Given the description of an element on the screen output the (x, y) to click on. 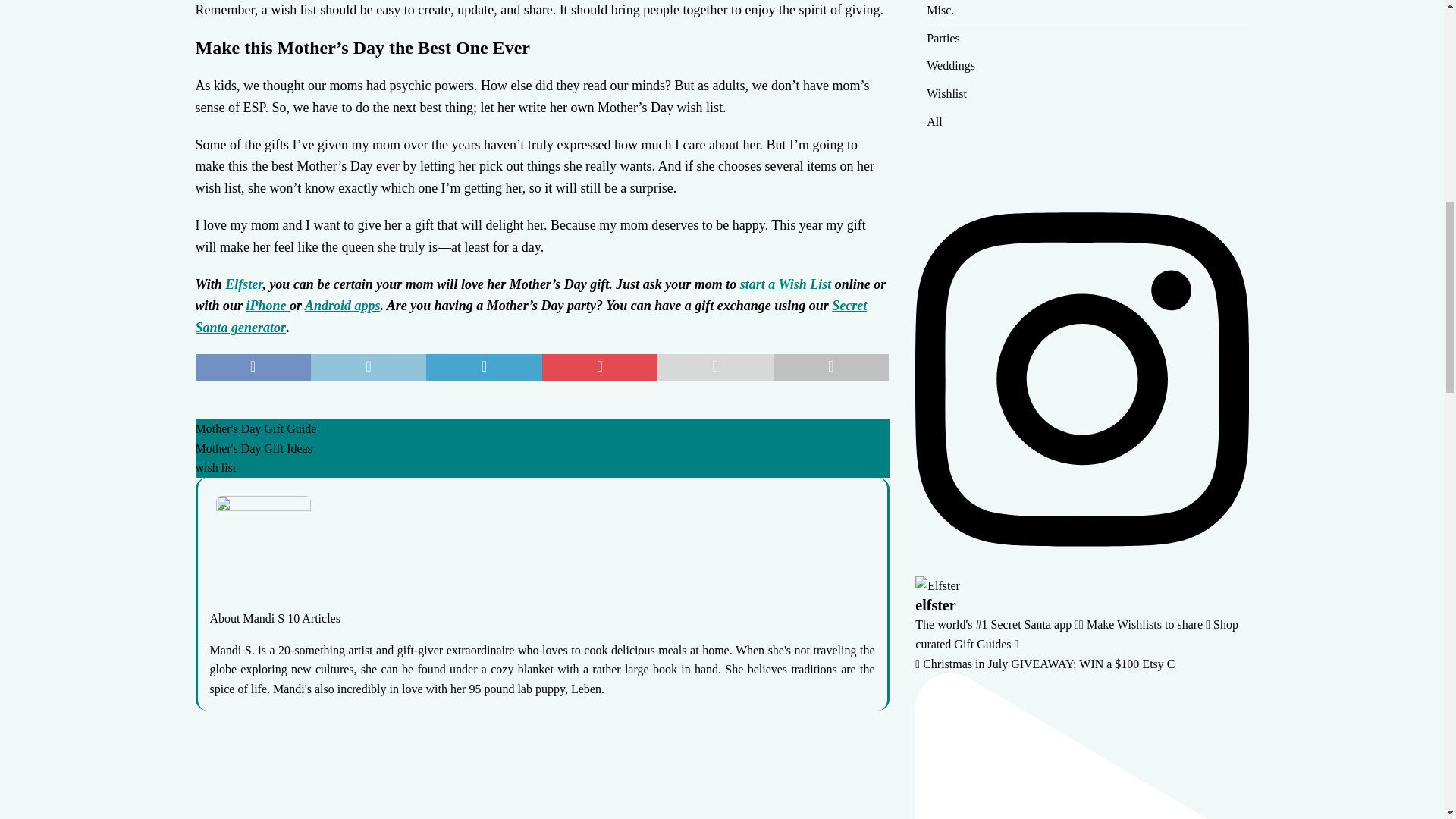
More articles written by Mandi S' (313, 617)
